Given the description of an element on the screen output the (x, y) to click on. 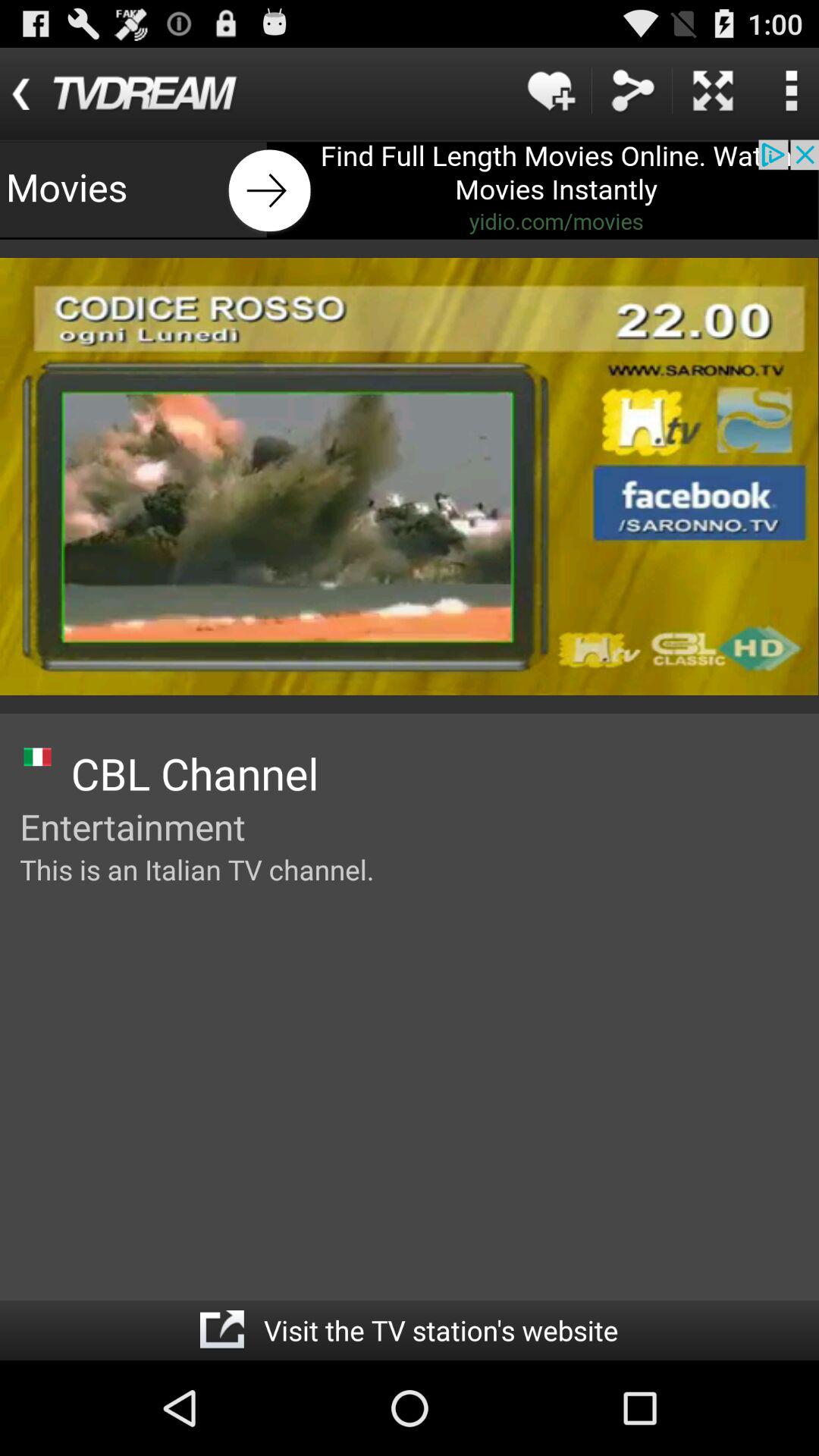
see all options (791, 90)
